Given the description of an element on the screen output the (x, y) to click on. 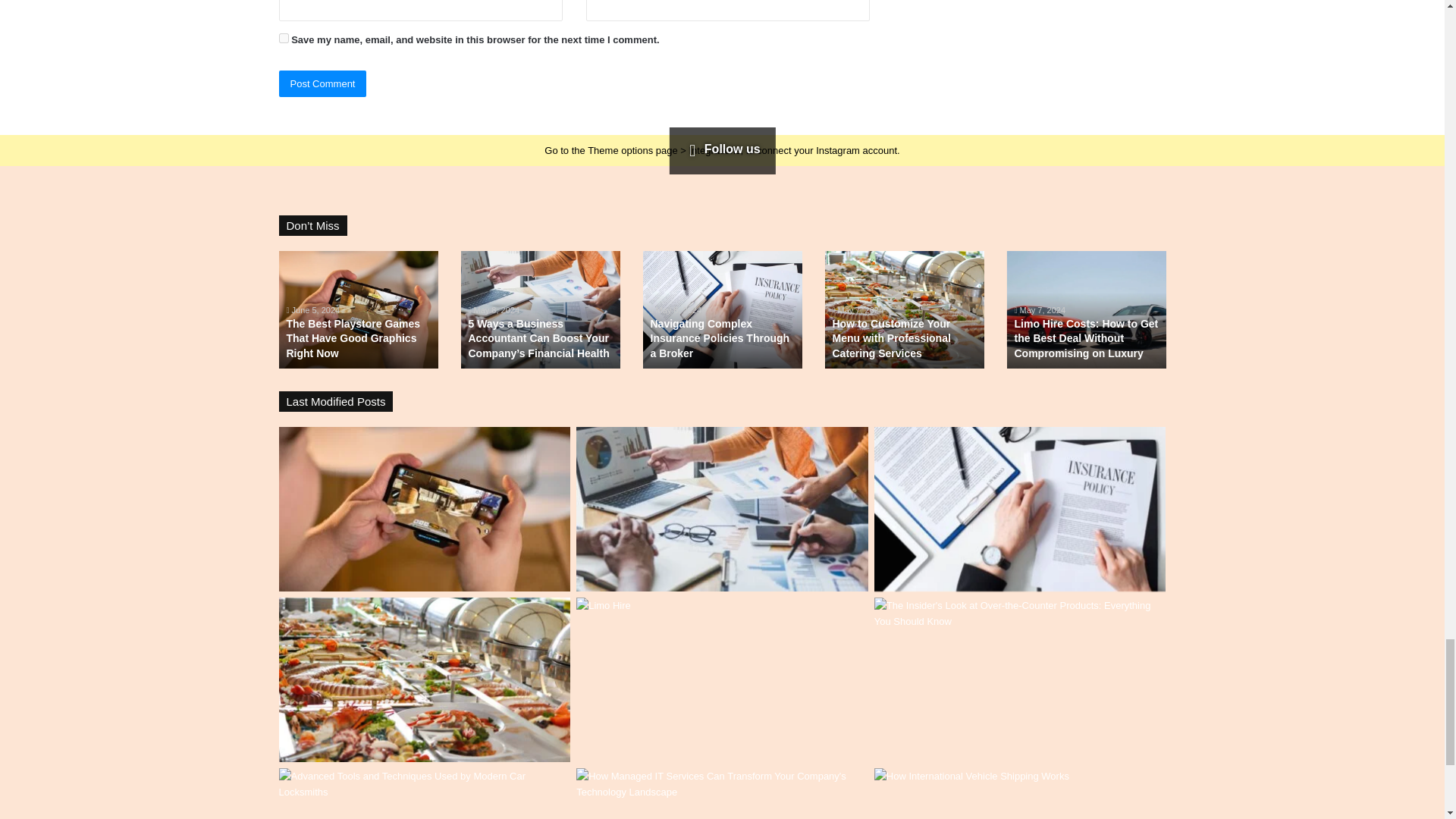
yes (283, 38)
Post Comment (322, 83)
